Given the description of an element on the screen output the (x, y) to click on. 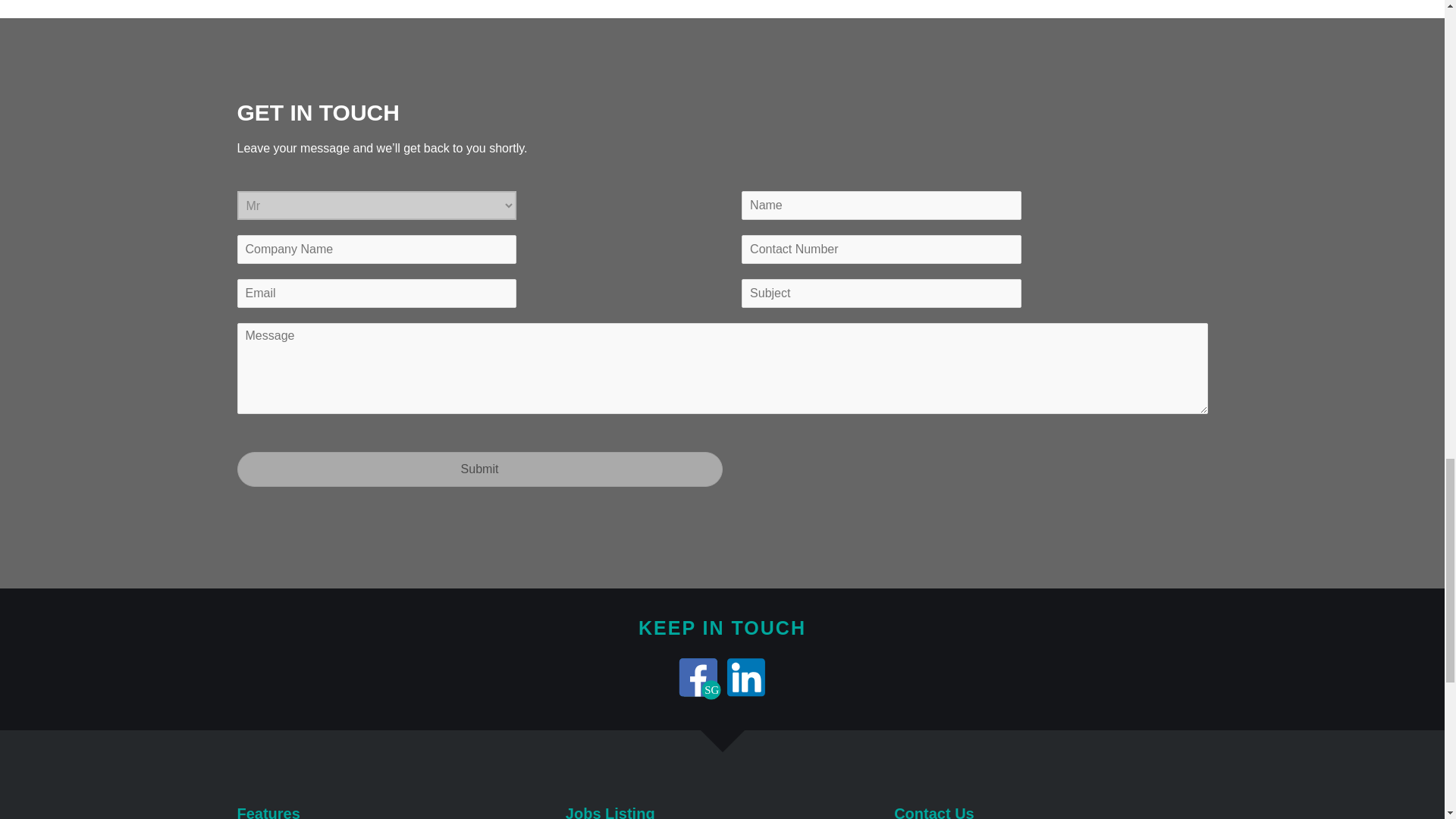
Submit (478, 469)
SG (697, 677)
SG (697, 677)
